Given the description of an element on the screen output the (x, y) to click on. 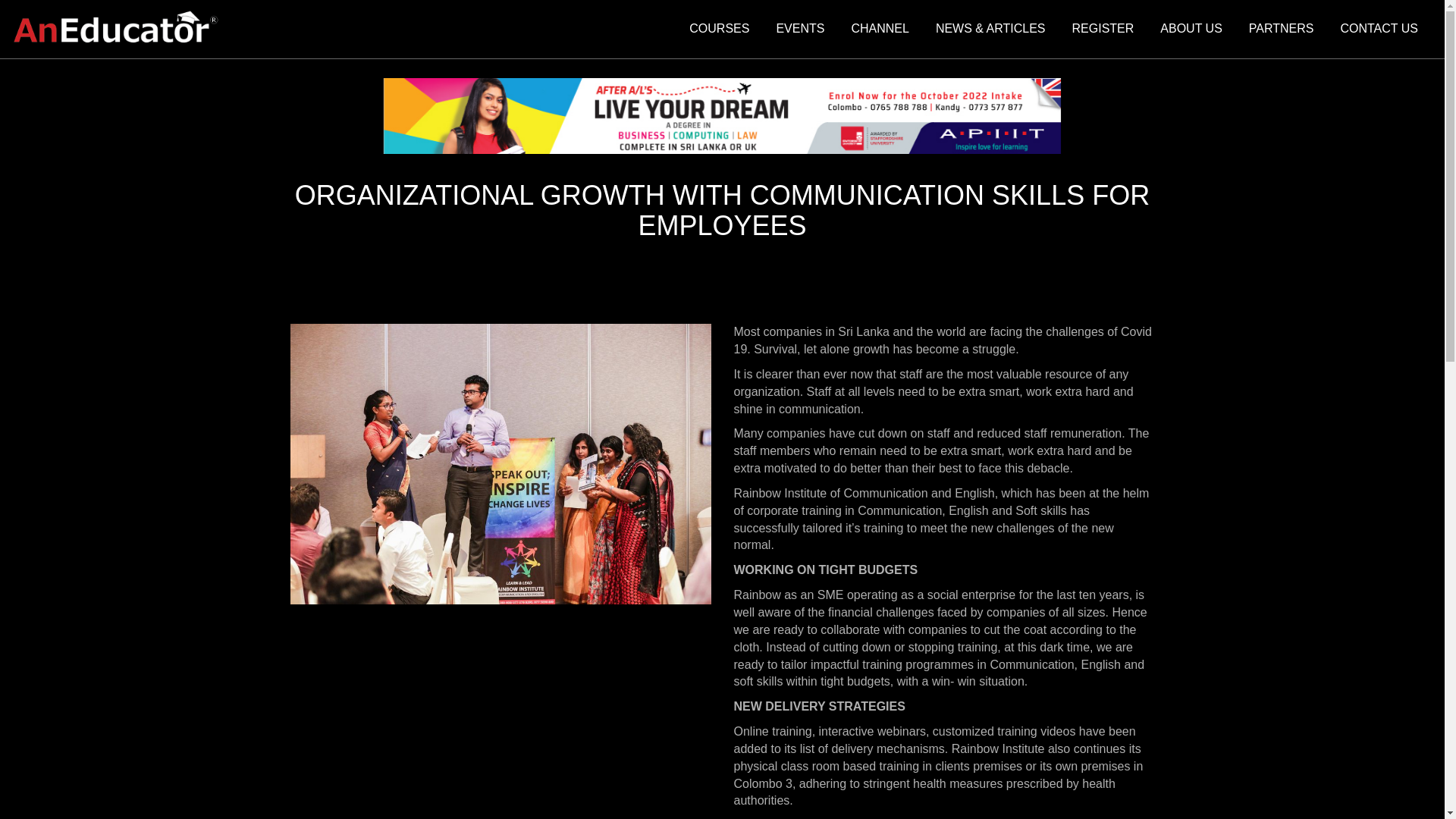
CONTACT US (1378, 29)
REGISTER (1103, 29)
ABOUT US (1190, 29)
PARTNERS (1280, 29)
COURSES (719, 29)
EVENTS (799, 29)
CHANNEL (880, 29)
